Given the description of an element on the screen output the (x, y) to click on. 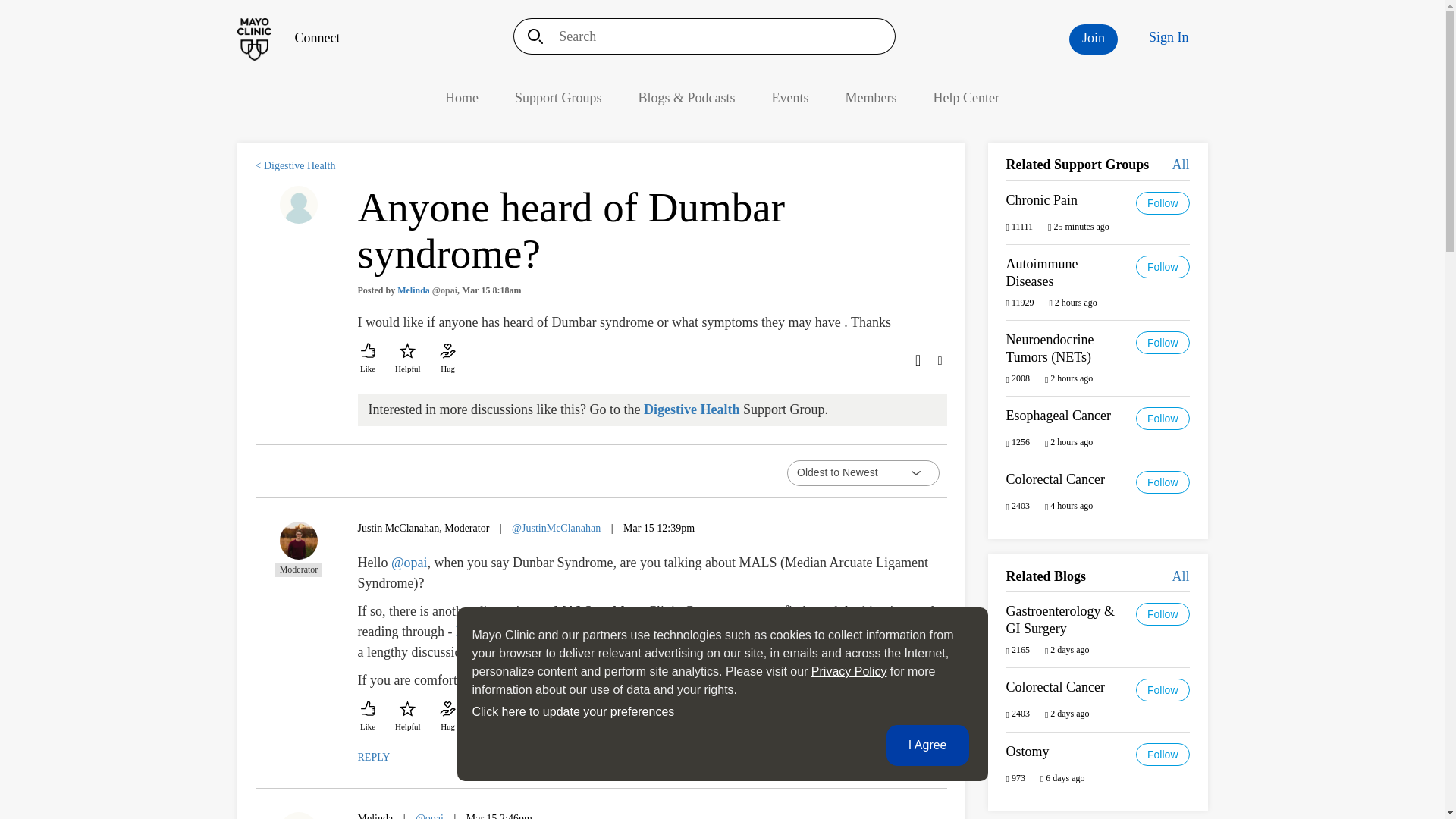
Join (1093, 39)
Helpful: indicate that you found this comment helpful. (407, 716)
Events (790, 97)
Send encouragement for this discussion. (448, 358)
Support Groups (558, 97)
Helpful: indicate that you found this discussion helpful. (407, 358)
Digestive Health (691, 409)
Help Center (965, 97)
Home (287, 37)
Like (368, 358)
Helpful (407, 716)
Connect (287, 37)
Hug (448, 358)
Sign In (1169, 37)
Support Groups (558, 97)
